Given the description of an element on the screen output the (x, y) to click on. 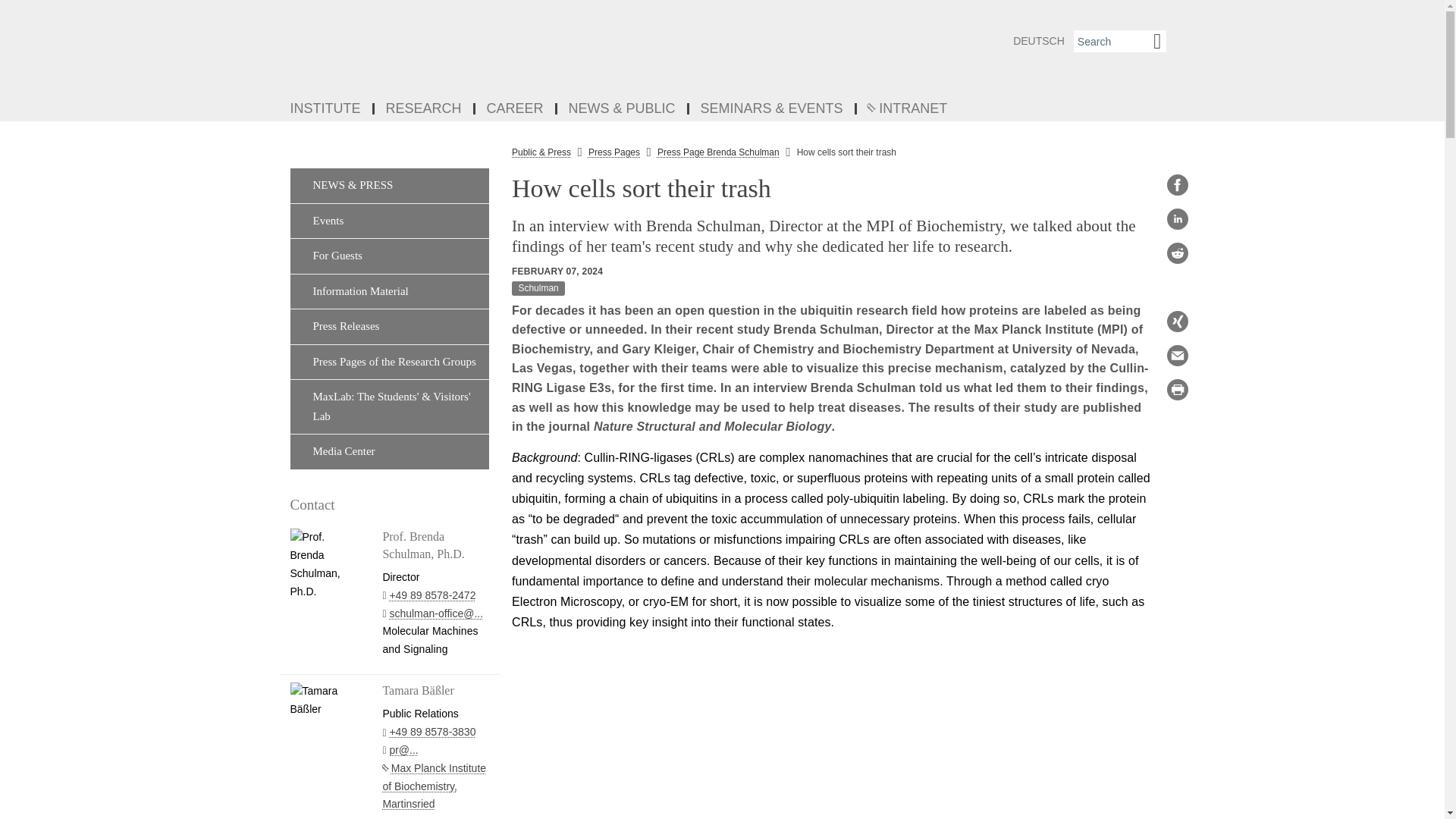
Max Planck Institute of Biochemistry, Martinsried (433, 786)
opens zoom view (833, 729)
INSTITUTE (326, 108)
DEUTSCH (1038, 41)
Brenda Schulman, PhD (833, 729)
Twitter (1177, 287)
Xing (1177, 321)
Print (1177, 389)
E-Mail (1177, 354)
CAREER (516, 108)
